Given the description of an element on the screen output the (x, y) to click on. 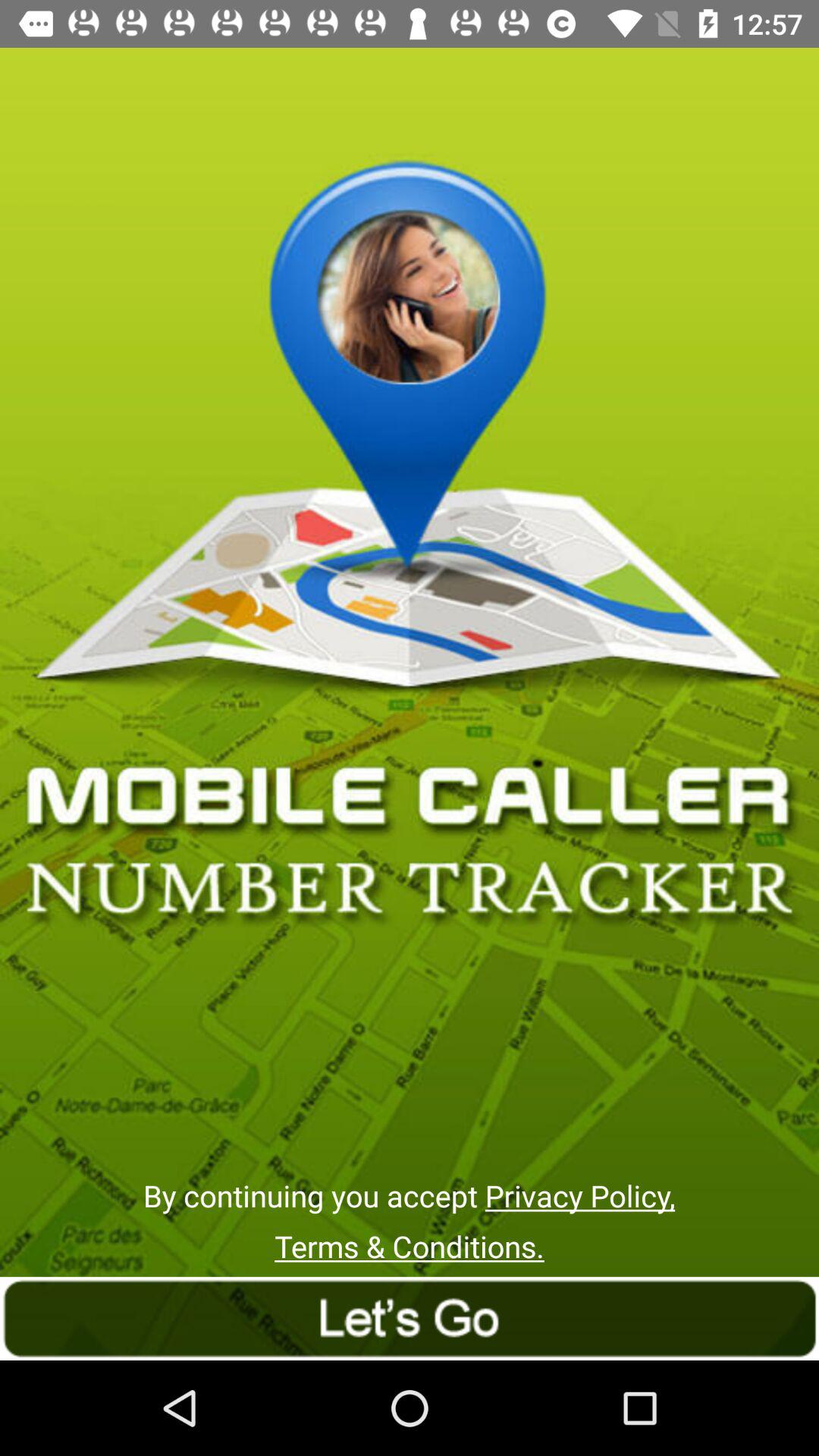
click the icon above the terms & conditions. item (409, 1195)
